Given the description of an element on the screen output the (x, y) to click on. 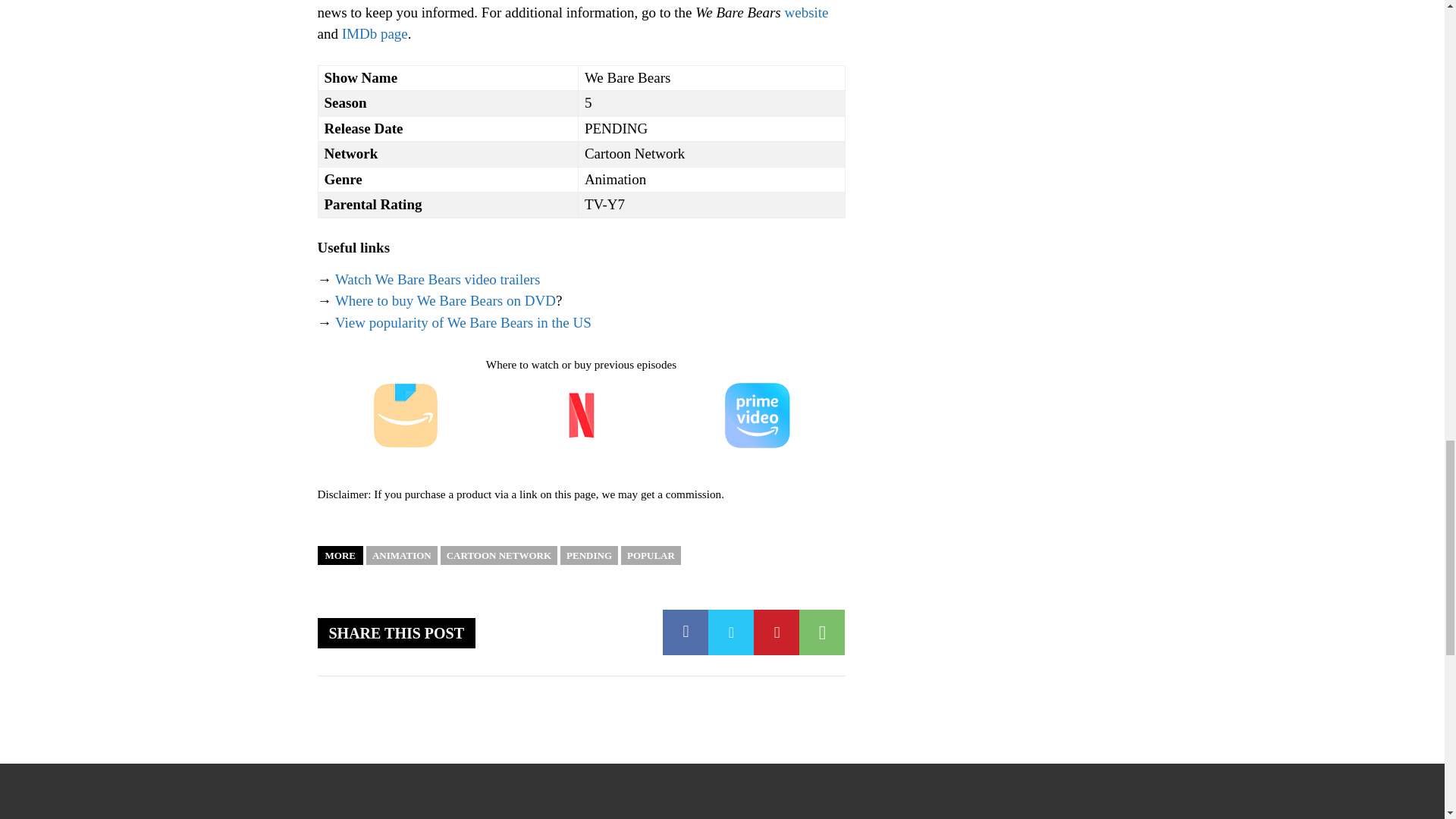
PENDING (588, 555)
View popularity of We Bare Bears in the US (462, 322)
Where to buy We Bare Bears on DVD (445, 300)
POPULAR (651, 555)
ANIMATION (402, 555)
IMDb page (374, 33)
website (806, 12)
Watch We Bare Bears video trailers (437, 279)
CARTOON NETWORK (499, 555)
